Given the description of an element on the screen output the (x, y) to click on. 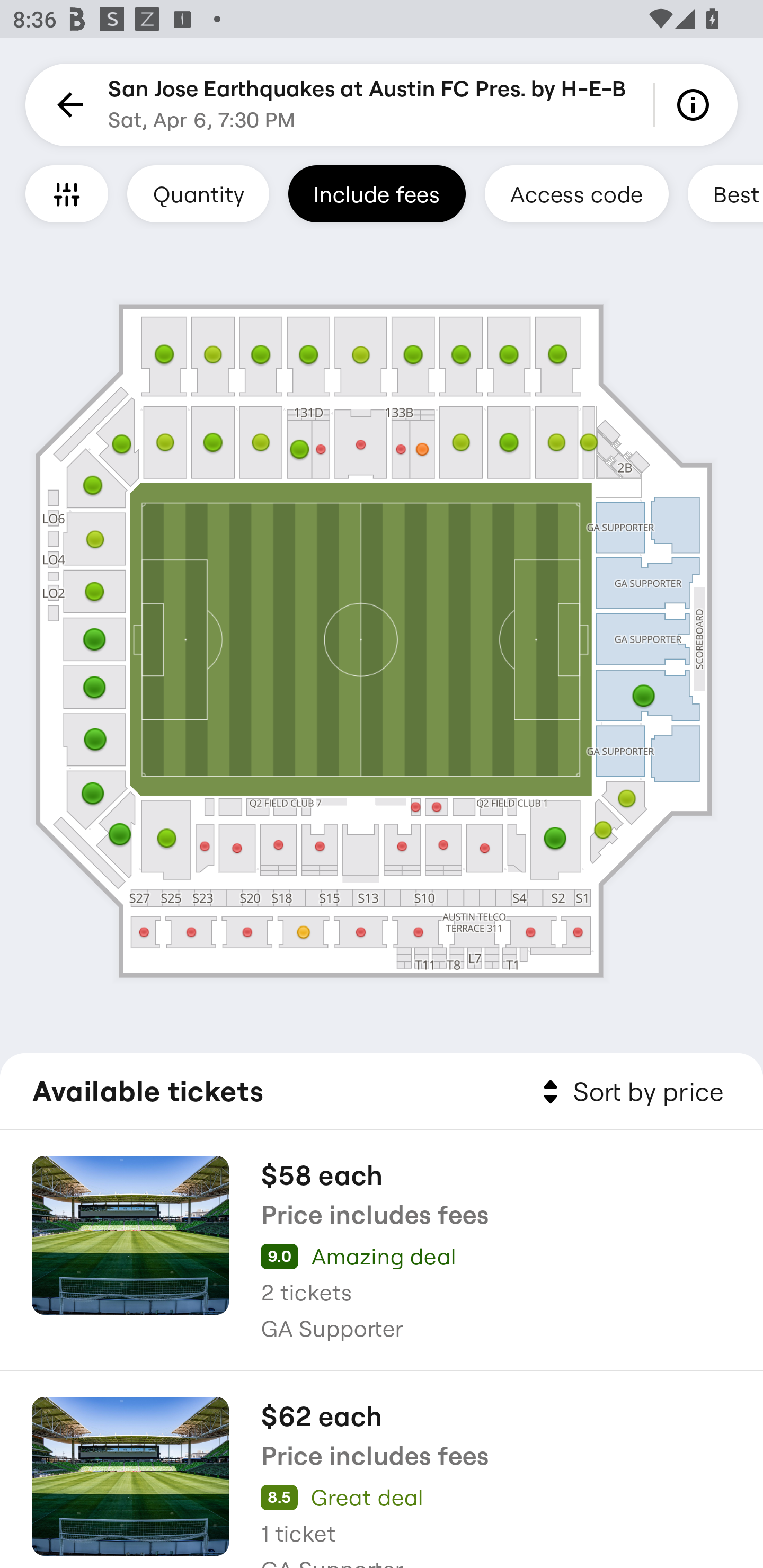
Back (66, 104)
Info (695, 104)
Filters and Accessible Seating (66, 193)
Quantity (198, 193)
Include fees (376, 193)
Access code (576, 193)
Sort by price (629, 1091)
